Given the description of an element on the screen output the (x, y) to click on. 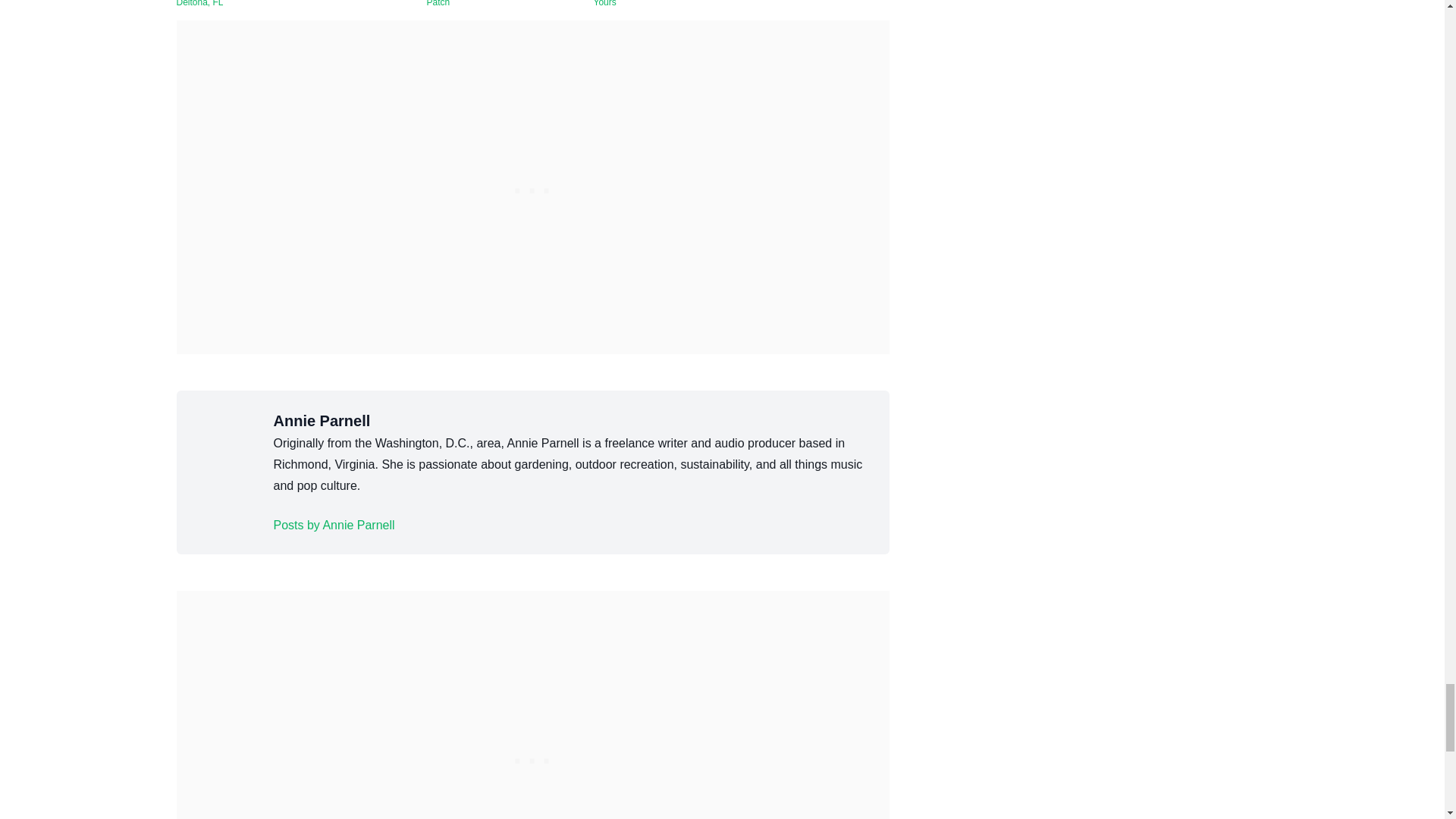
Annie Parnell (333, 525)
